Given the description of an element on the screen output the (x, y) to click on. 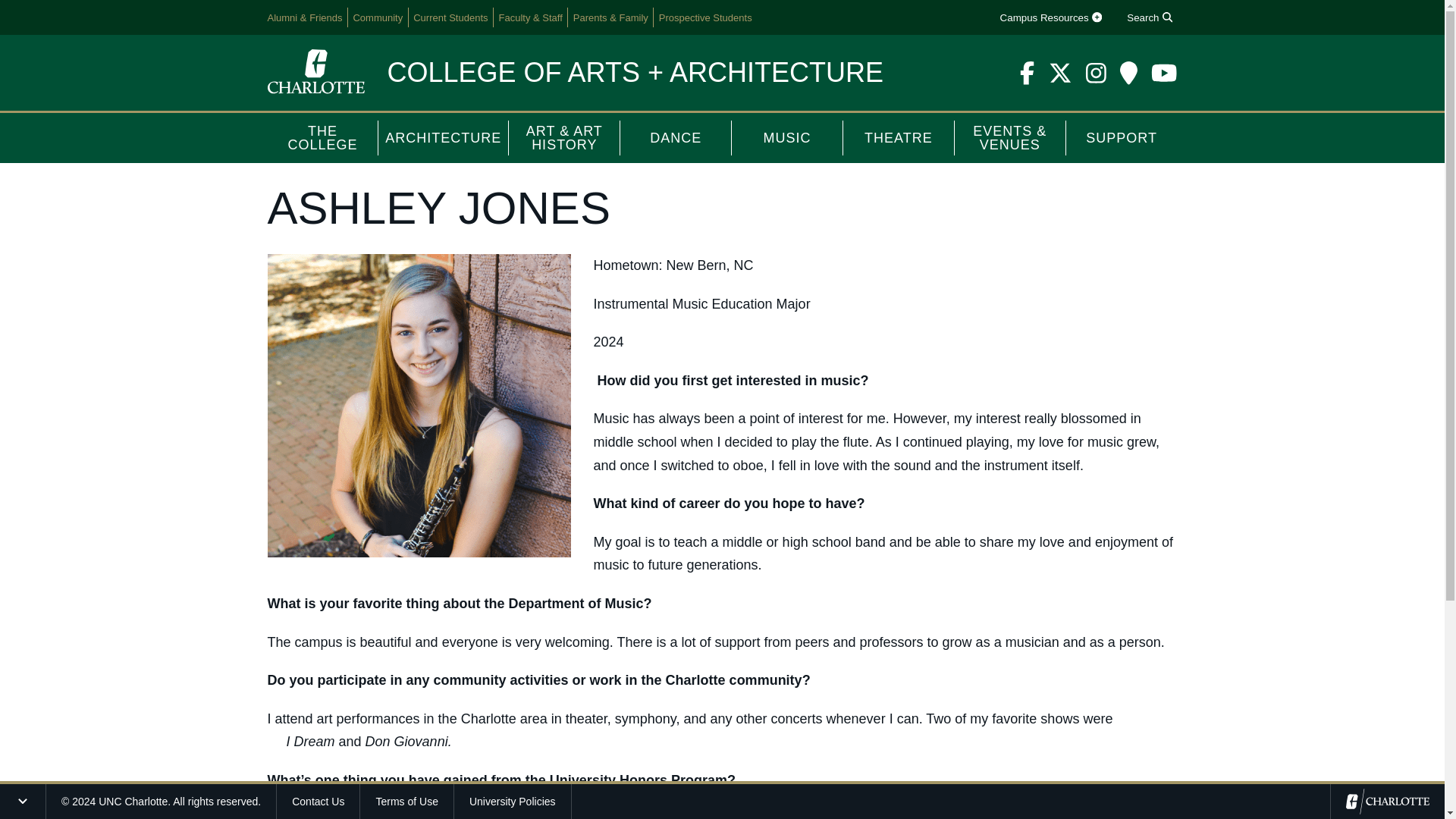
Prospective Students (705, 17)
Community (378, 17)
Search (1149, 16)
Current Students (451, 17)
Campus Resources (1050, 16)
